Given the description of an element on the screen output the (x, y) to click on. 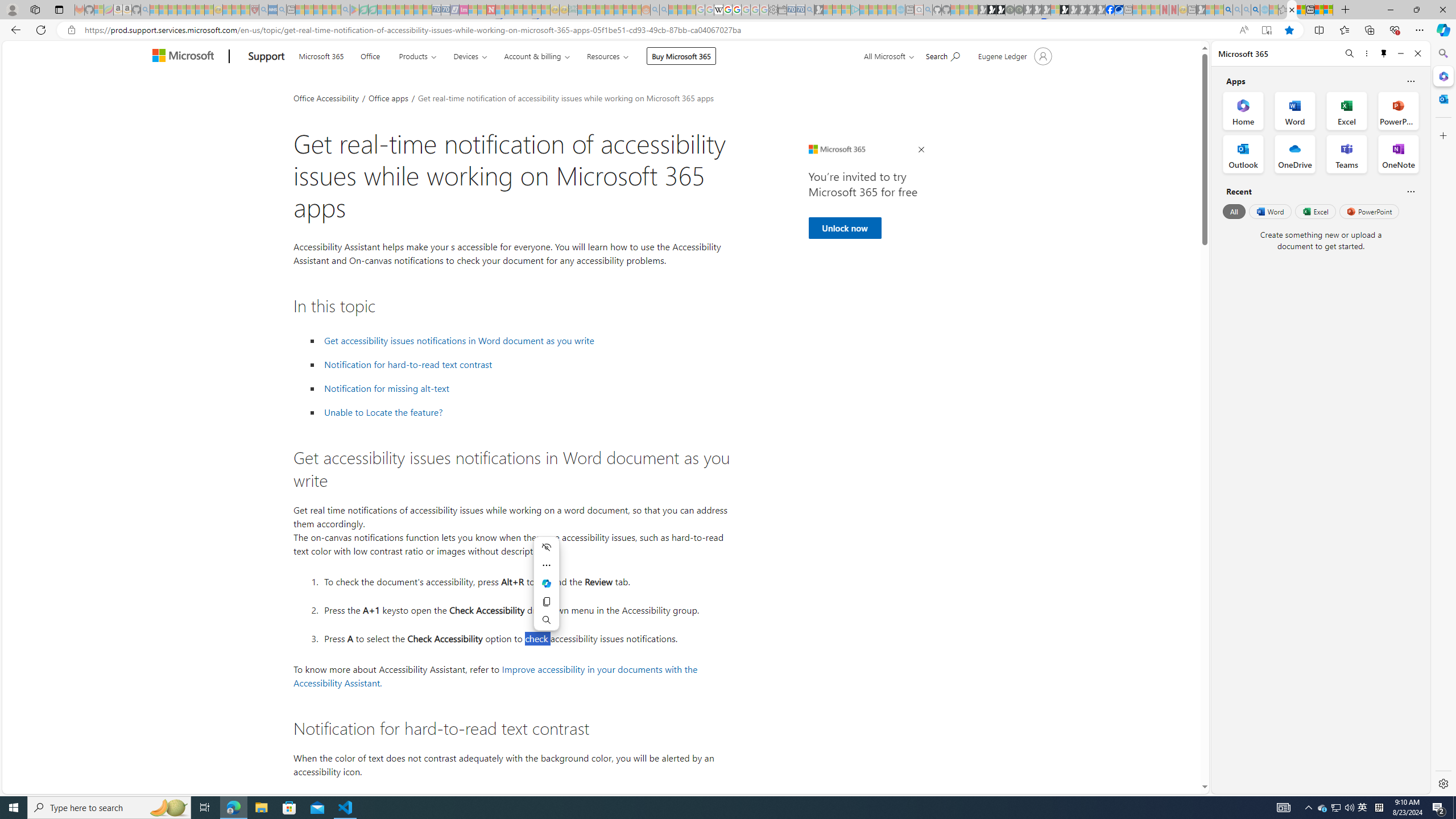
Buy Microsoft 365 (681, 55)
Unable to Locate the feature? (525, 412)
Notification for missing alt-text (525, 388)
MSN - Sleeping (1200, 9)
Copy (546, 601)
